Given the description of an element on the screen output the (x, y) to click on. 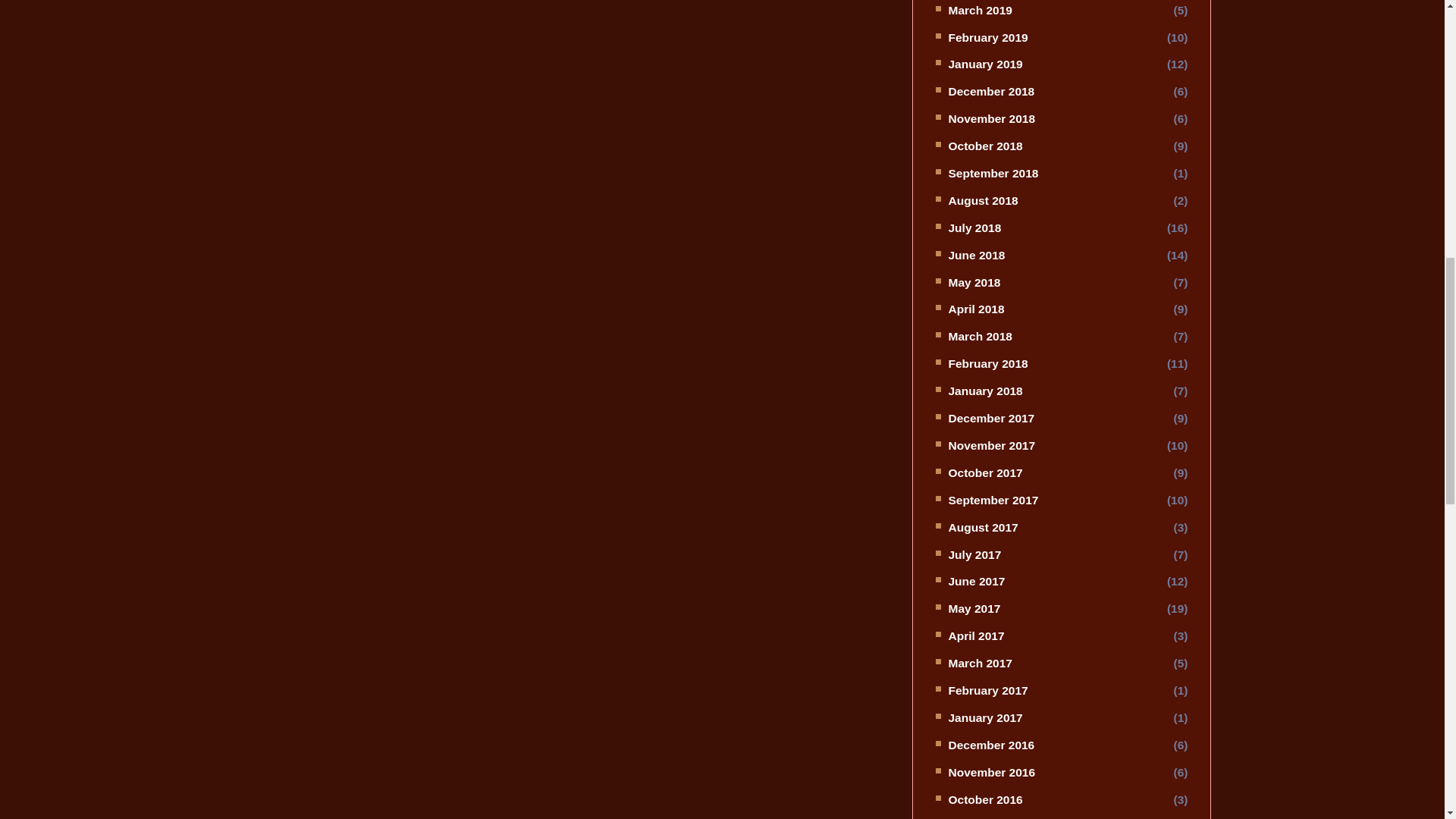
June 2018 (975, 254)
July 2018 (974, 227)
January 2019 (984, 63)
February 2019 (987, 37)
May 2018 (973, 282)
November 2018 (991, 118)
January 2018 (984, 390)
April 2018 (975, 308)
October 2018 (984, 145)
December 2018 (990, 91)
